Given the description of an element on the screen output the (x, y) to click on. 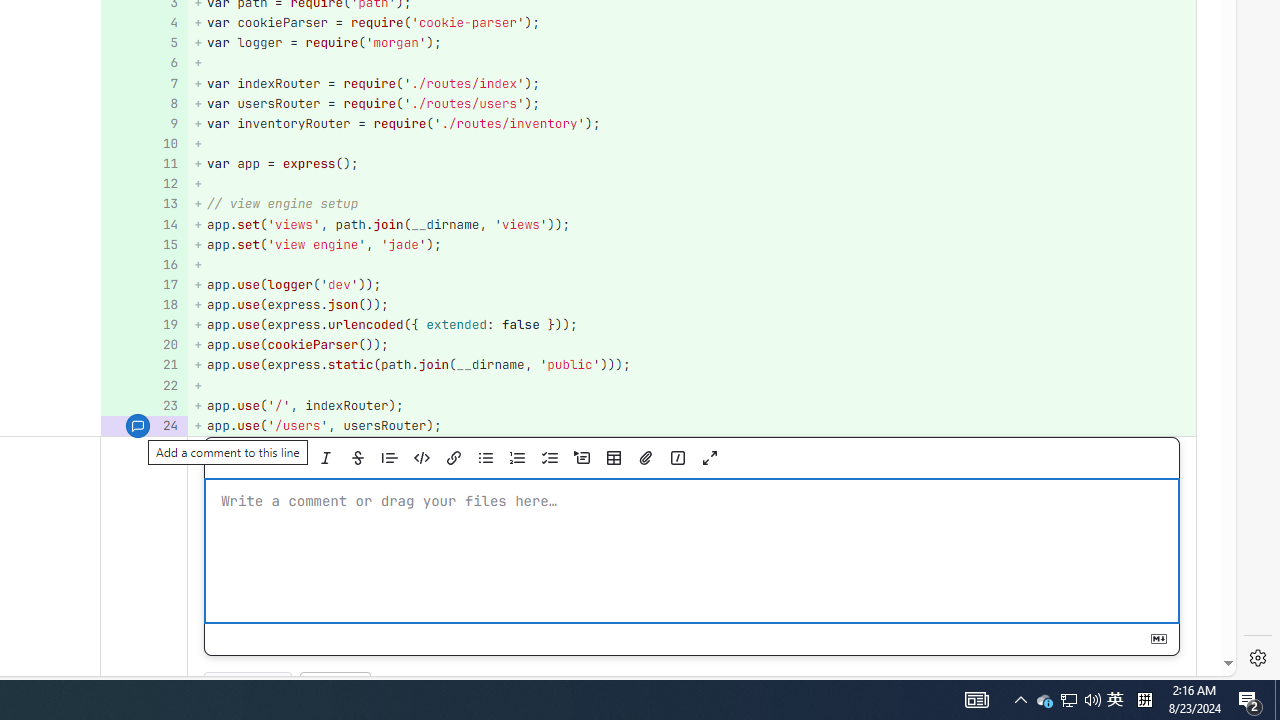
23 (141, 405)
Add a comment to this line 21 (144, 364)
+ app.use('/users', usersRouter);  (691, 425)
Add a comment to this line 13 (144, 204)
Preview (246, 457)
4 (141, 22)
Add a quick action (677, 457)
Add a comment to this line 7 (144, 83)
Add a comment to this line 18 (144, 305)
Add a comment to this line 14 (144, 223)
+ app.use(logger('dev'));  (691, 284)
22 (141, 385)
20 (141, 344)
9 (141, 123)
